Given the description of an element on the screen output the (x, y) to click on. 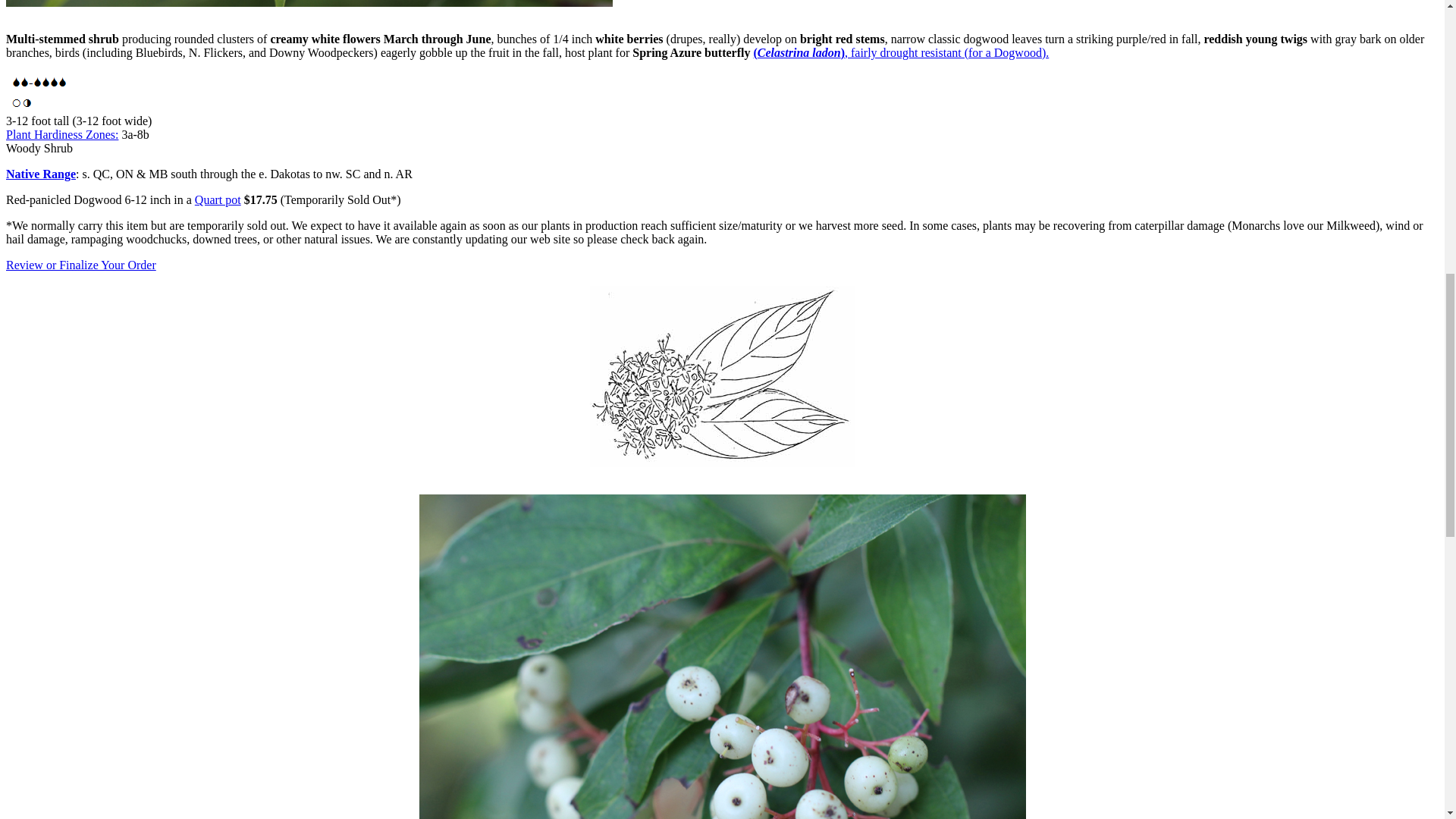
Native Range (40, 173)
Review or Finalize Your Order (80, 264)
USDA Plants Database (40, 173)
Plant Hardiness Zones: (61, 133)
Butterflies and Moths of North America (901, 51)
Quart pot (218, 199)
Sun To Part Shade (22, 110)
Average To Wet (39, 88)
